Given the description of an element on the screen output the (x, y) to click on. 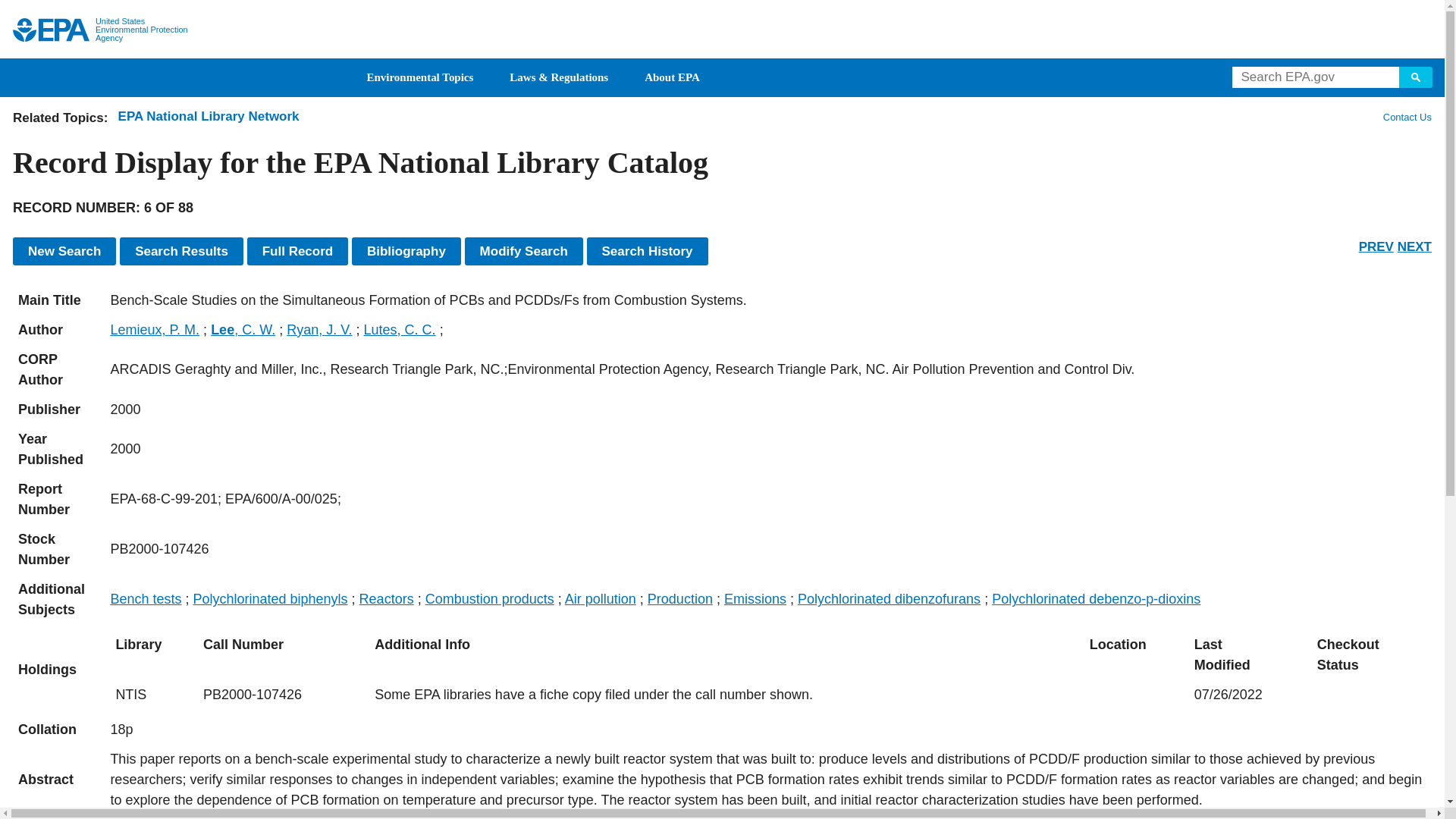
PREV (1375, 246)
New Search (64, 251)
Display Full Record (298, 251)
About EPA (671, 77)
Full Record (298, 251)
Polychlorinated dibenzofurans (888, 598)
Show results in bibliographic format (406, 251)
Modify the existing search criteria (523, 251)
Air pollution (600, 598)
Polychlorinated debenzo-p-dioxins (1095, 598)
